Given the description of an element on the screen output the (x, y) to click on. 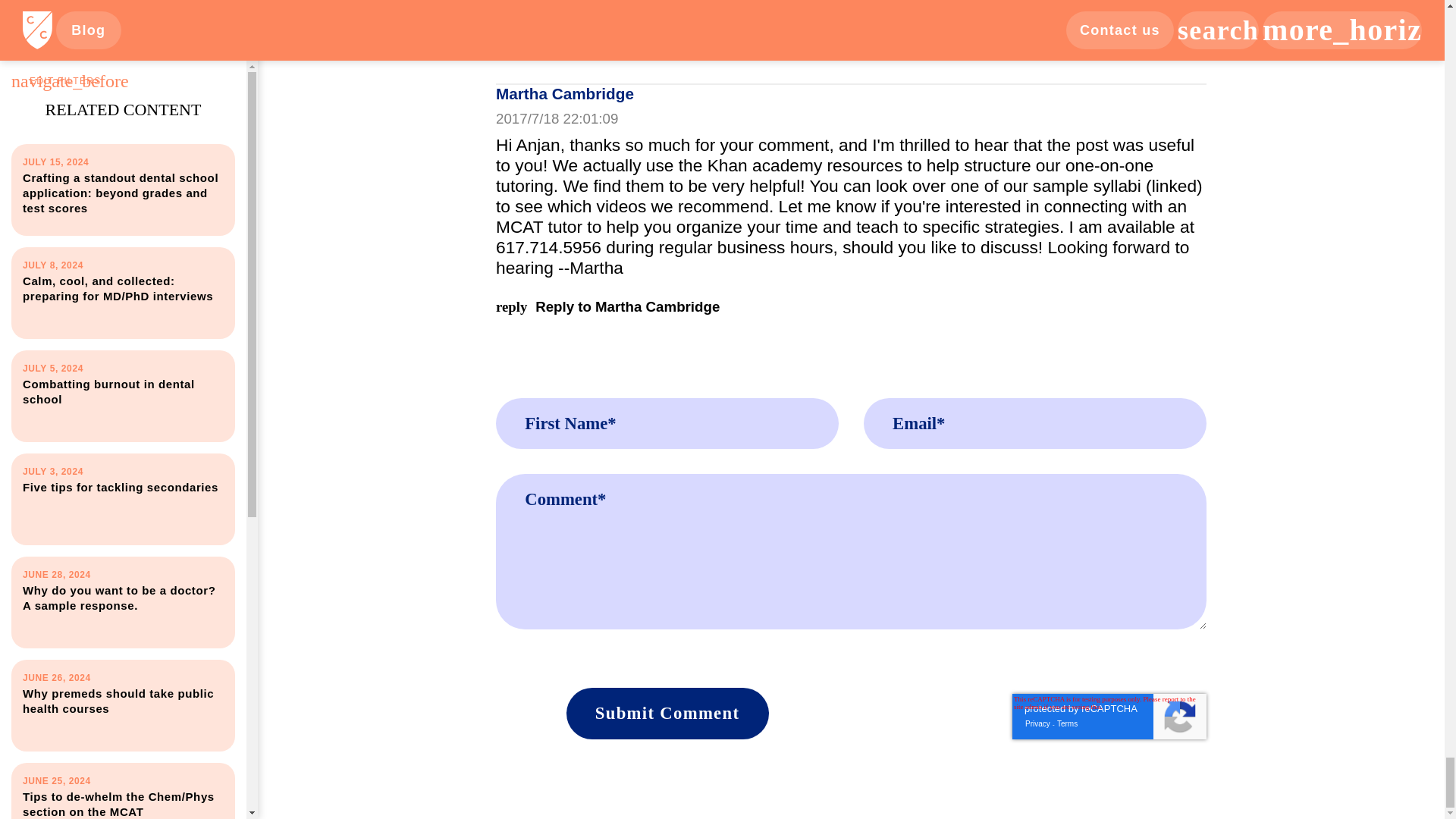
Martha Cambridge (564, 93)
Submit Comment (851, 49)
reCAPTCHA (667, 713)
Submit Comment (1109, 716)
